Given the description of an element on the screen output the (x, y) to click on. 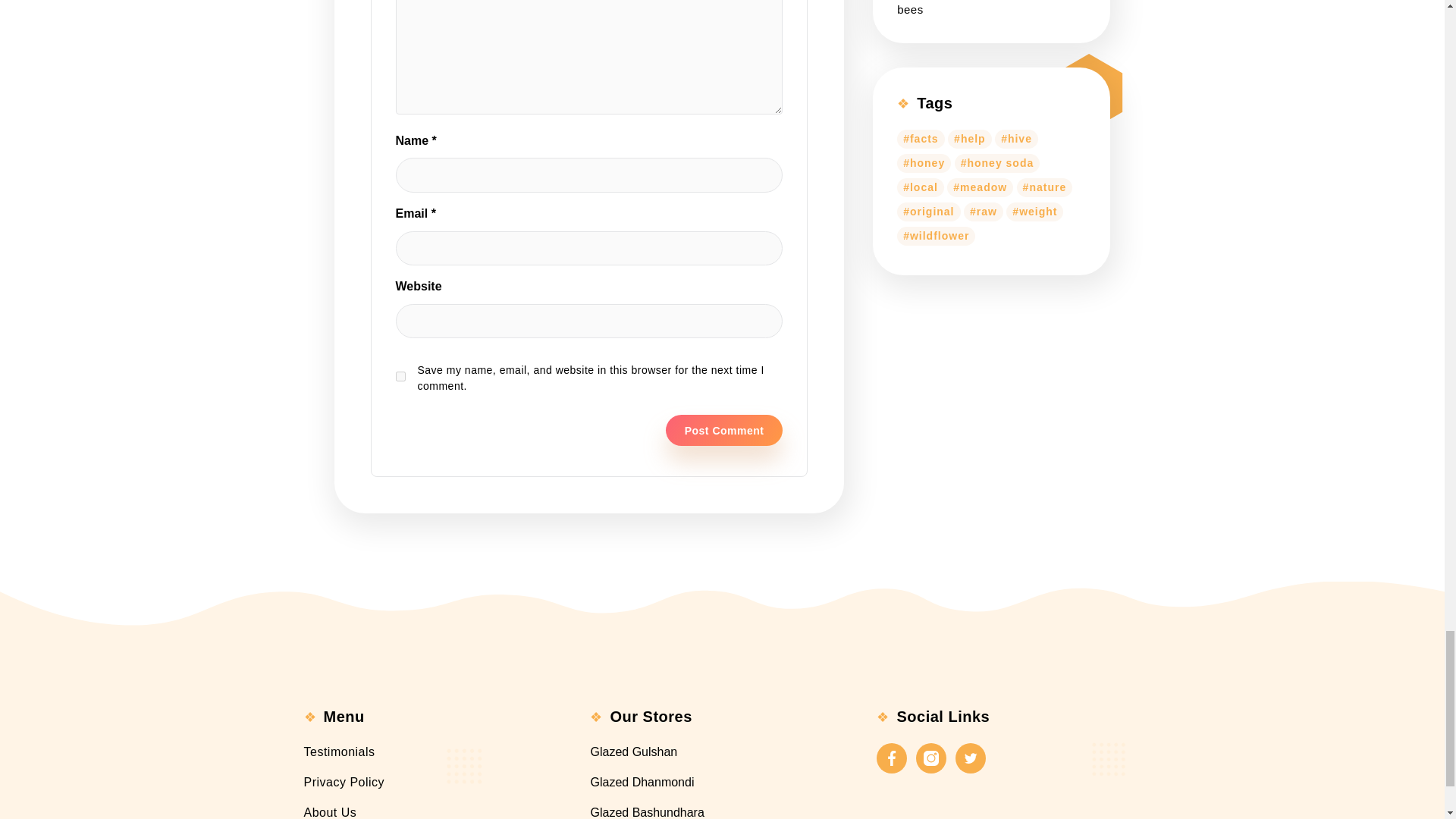
yes (401, 376)
Post Comment (724, 430)
Post Comment (724, 430)
